Given the description of an element on the screen output the (x, y) to click on. 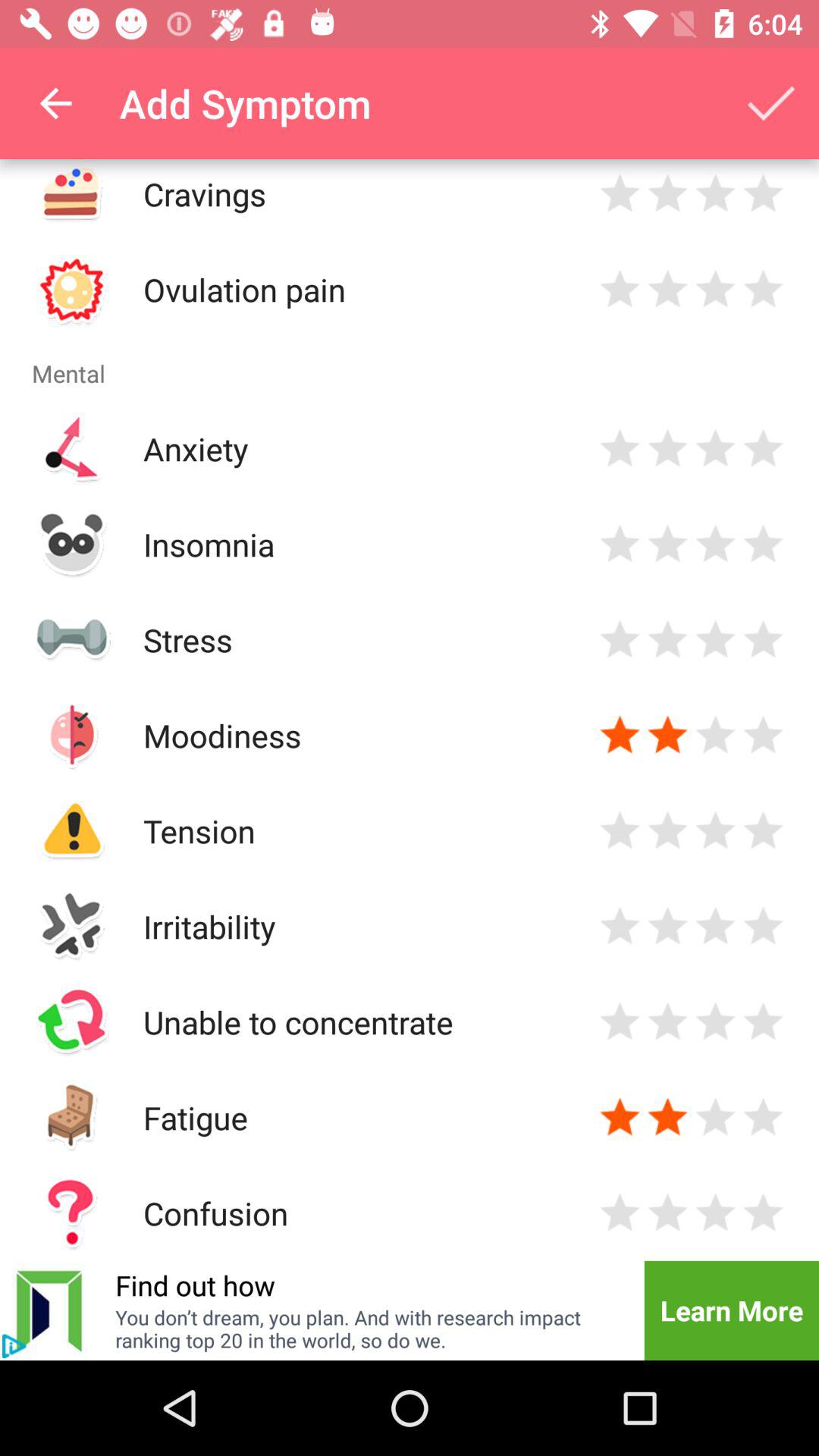
select 3 points (715, 926)
